Given the description of an element on the screen output the (x, y) to click on. 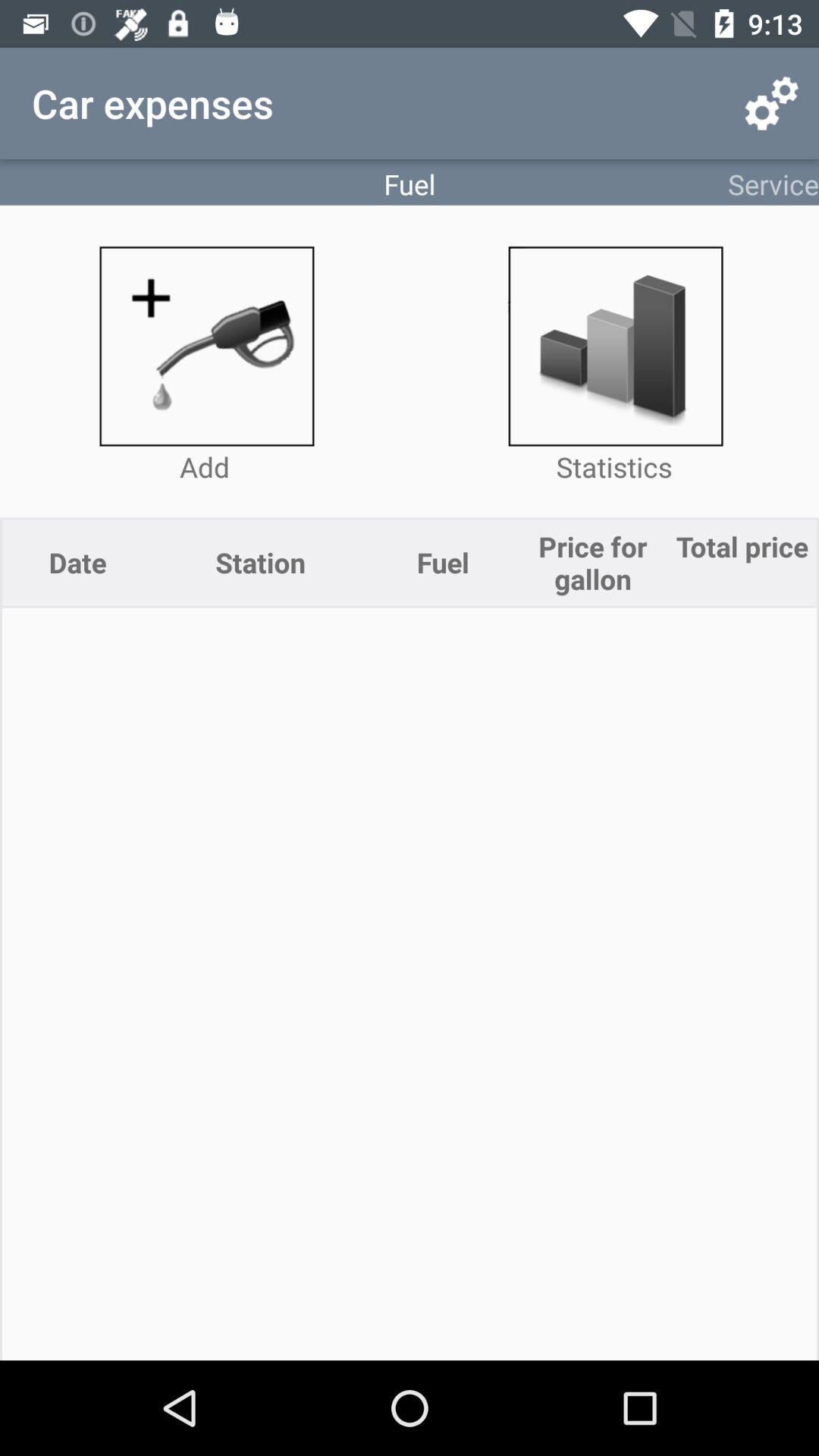
share market (613, 345)
